Given the description of an element on the screen output the (x, y) to click on. 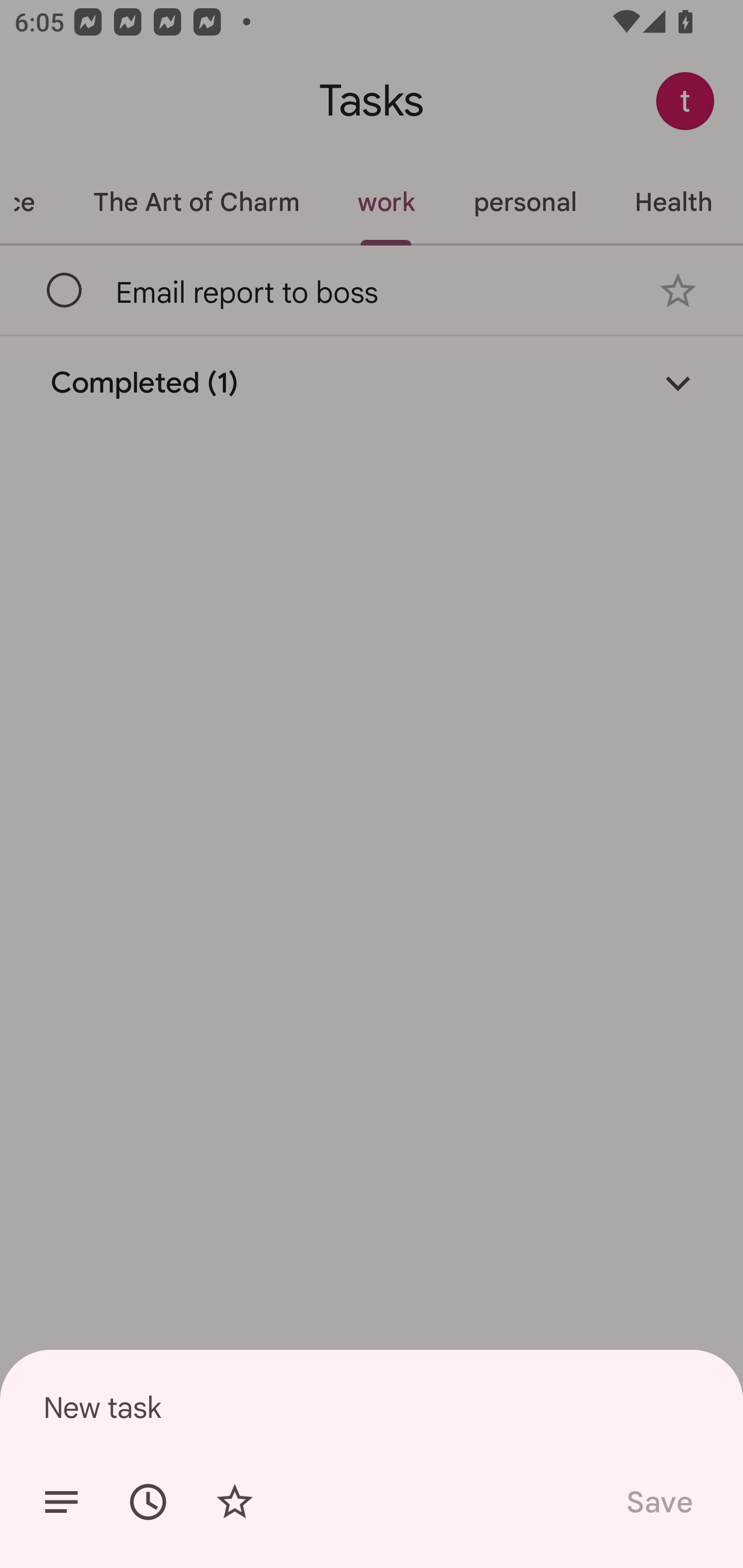
New task (371, 1407)
Save (659, 1501)
Add details (60, 1501)
Set date/time (147, 1501)
Add star (234, 1501)
